Given the description of an element on the screen output the (x, y) to click on. 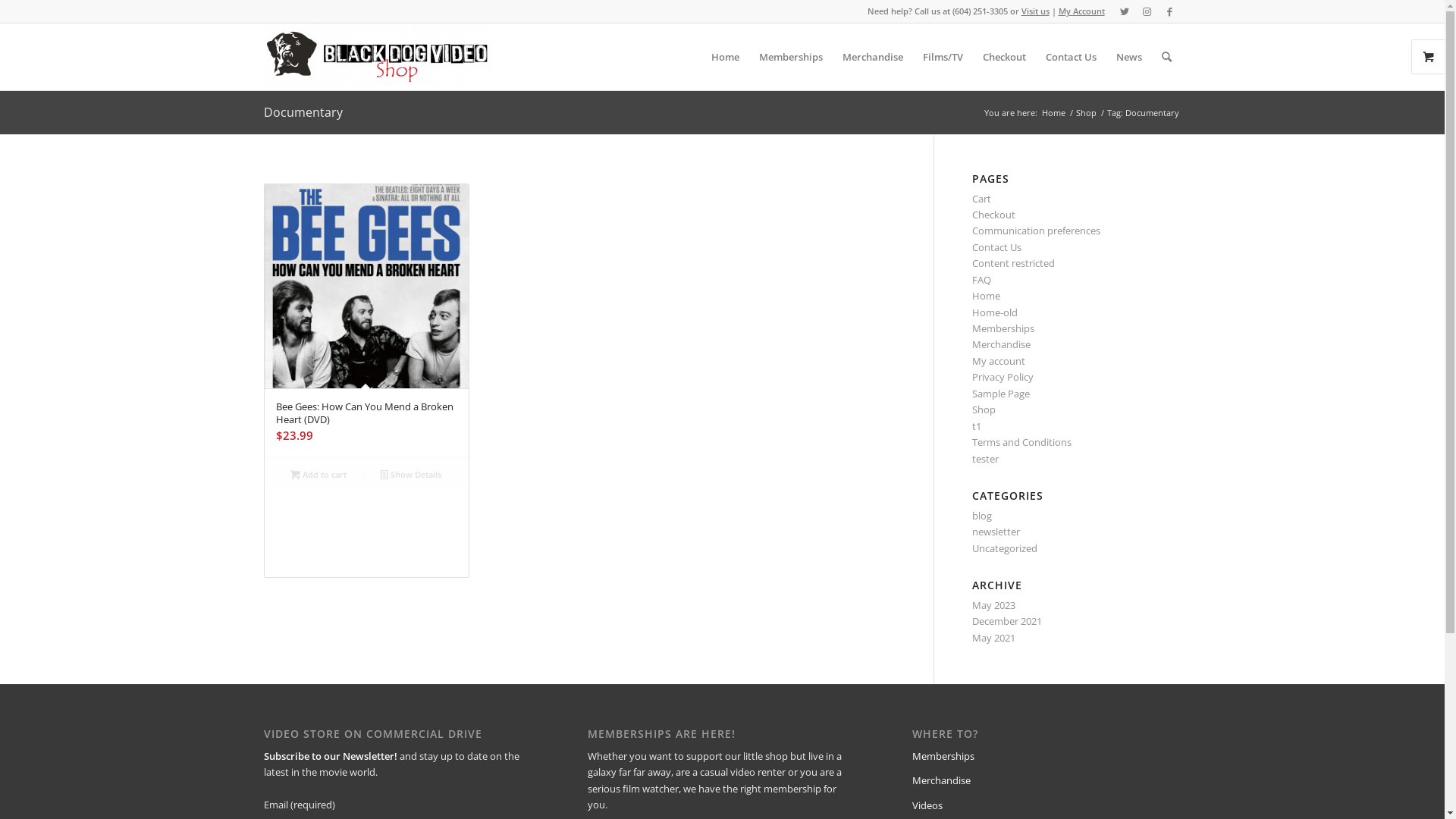
December 2021 Element type: text (1006, 620)
tester Element type: text (985, 458)
Content restricted Element type: text (1013, 262)
Merchandise Element type: text (872, 56)
Home Element type: text (986, 295)
Memberships Element type: text (943, 755)
Home-old Element type: text (994, 312)
Uncategorized Element type: text (1004, 548)
Shop Element type: text (983, 409)
Contact Us Element type: text (996, 247)
Checkout Element type: text (993, 214)
(604) 251-3305 Element type: text (979, 10)
Merchandise Element type: text (1001, 344)
Sample Page Element type: text (1000, 393)
Privacy Policy Element type: text (1002, 376)
Add to cart Element type: text (317, 473)
Films/TV Element type: text (942, 56)
Home Element type: text (1052, 112)
My Account Element type: text (1081, 10)
newsletter Element type: text (995, 531)
News Element type: text (1128, 56)
My account Element type: text (998, 360)
Home Element type: text (724, 56)
Show Details Element type: text (410, 473)
Instagram Element type: hover (1146, 11)
Facebook Element type: hover (1169, 11)
Visit us Element type: text (1034, 10)
Memberships Element type: text (790, 56)
Cart Element type: text (981, 198)
blog Element type: text (981, 515)
Memberships Element type: text (1003, 328)
May 2021 Element type: text (993, 637)
May 2023 Element type: text (993, 604)
Contact Us Element type: text (1070, 56)
Shop Element type: text (1085, 112)
Terms and Conditions Element type: text (1021, 441)
FAQ Element type: text (981, 279)
Twitter Element type: hover (1124, 11)
Checkout Element type: text (1003, 56)
t1 Element type: text (976, 426)
Videos Element type: text (927, 805)
Merchandise Element type: text (941, 780)
Communication preferences Element type: text (1036, 230)
Bee Gees: How Can You Mend a Broken Heart (DVD)
$23.99 Element type: text (365, 321)
